Given the description of an element on the screen output the (x, y) to click on. 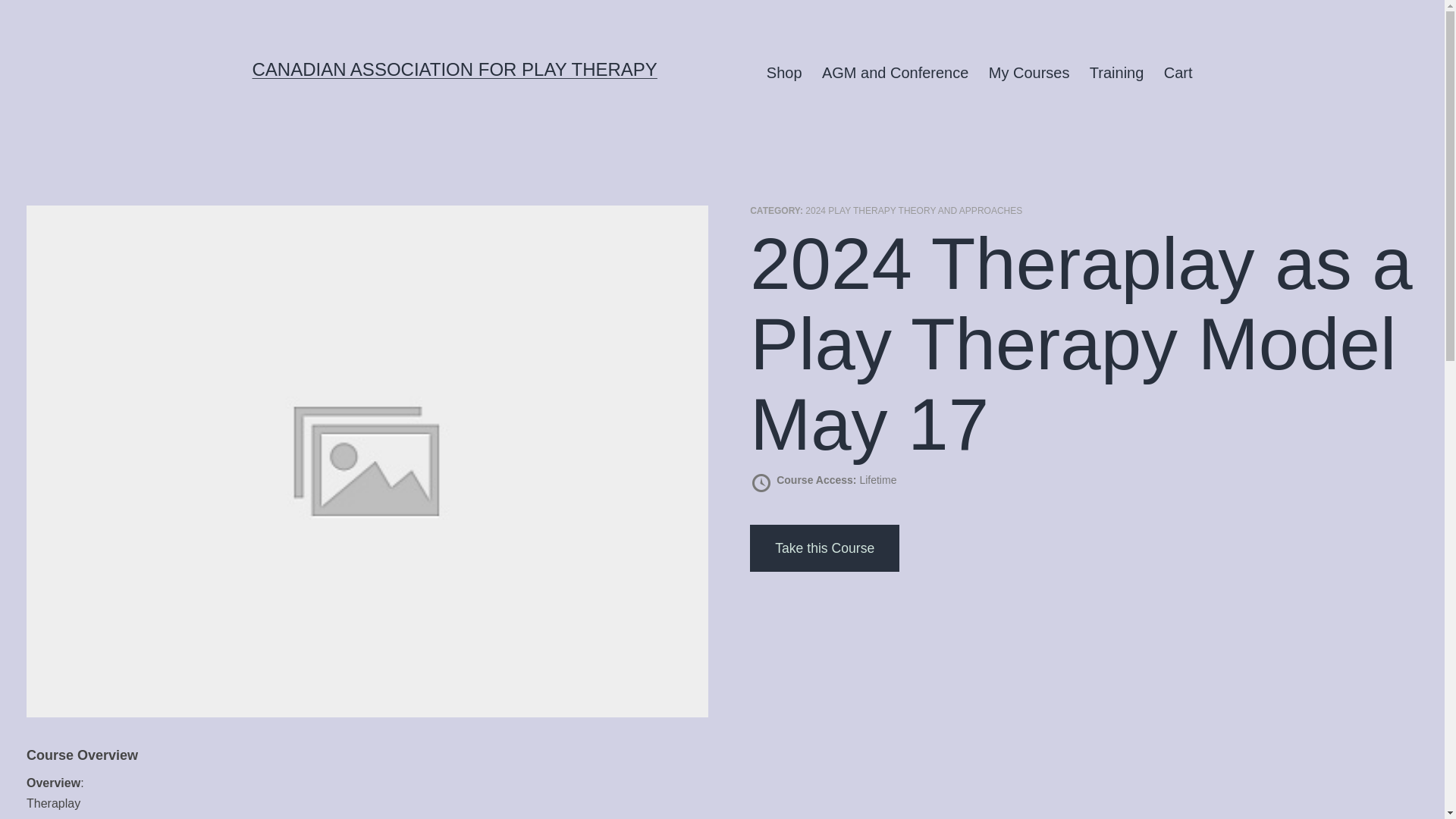
AGM and Conference (895, 72)
My Courses (1029, 72)
CANADIAN ASSOCIATION FOR PLAY THERAPY (453, 68)
Take this Course (824, 547)
Cart (1178, 72)
Shop (784, 72)
Training (1117, 72)
